Given the description of an element on the screen output the (x, y) to click on. 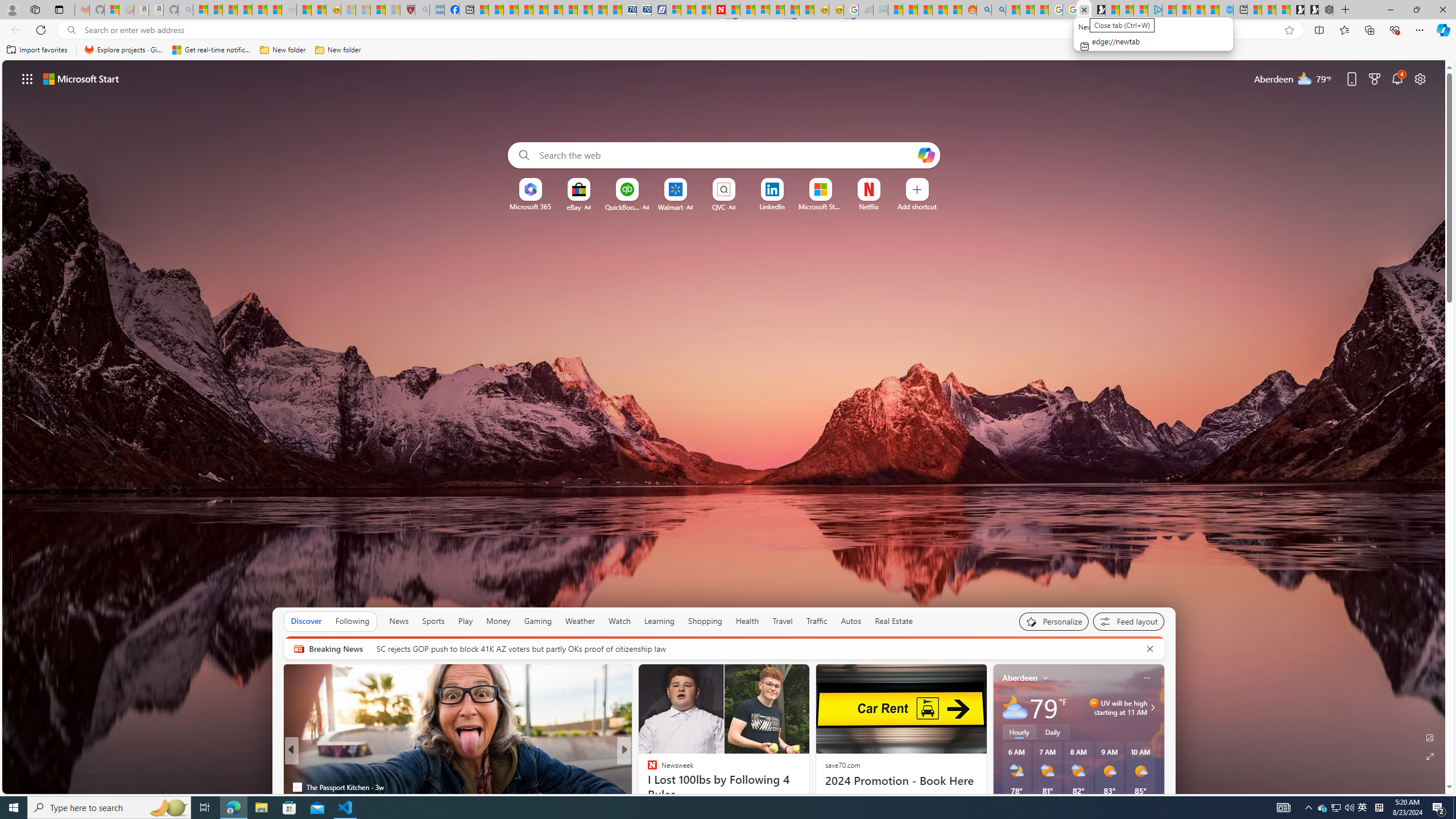
Favorites bar (728, 49)
MSNBC - MSN (895, 9)
Health (746, 621)
Student Loan Update: Forgiveness Program Ends This Month (939, 9)
Utah sues federal government - Search (998, 9)
